Given the description of an element on the screen output the (x, y) to click on. 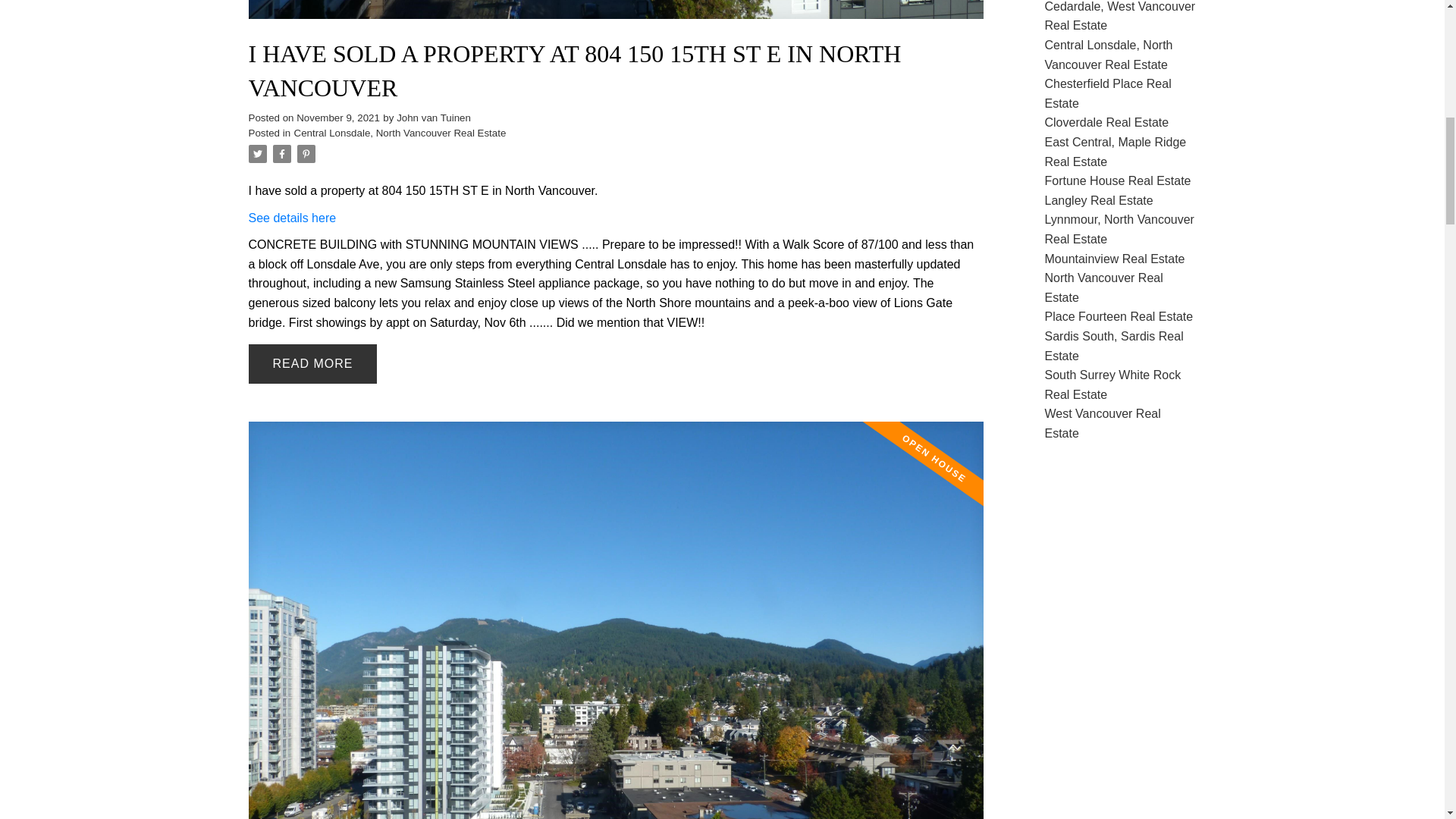
See details here (292, 217)
Read full post (616, 18)
Central Lonsdale, North Vancouver Real Estate (400, 132)
READ (312, 363)
